Given the description of an element on the screen output the (x, y) to click on. 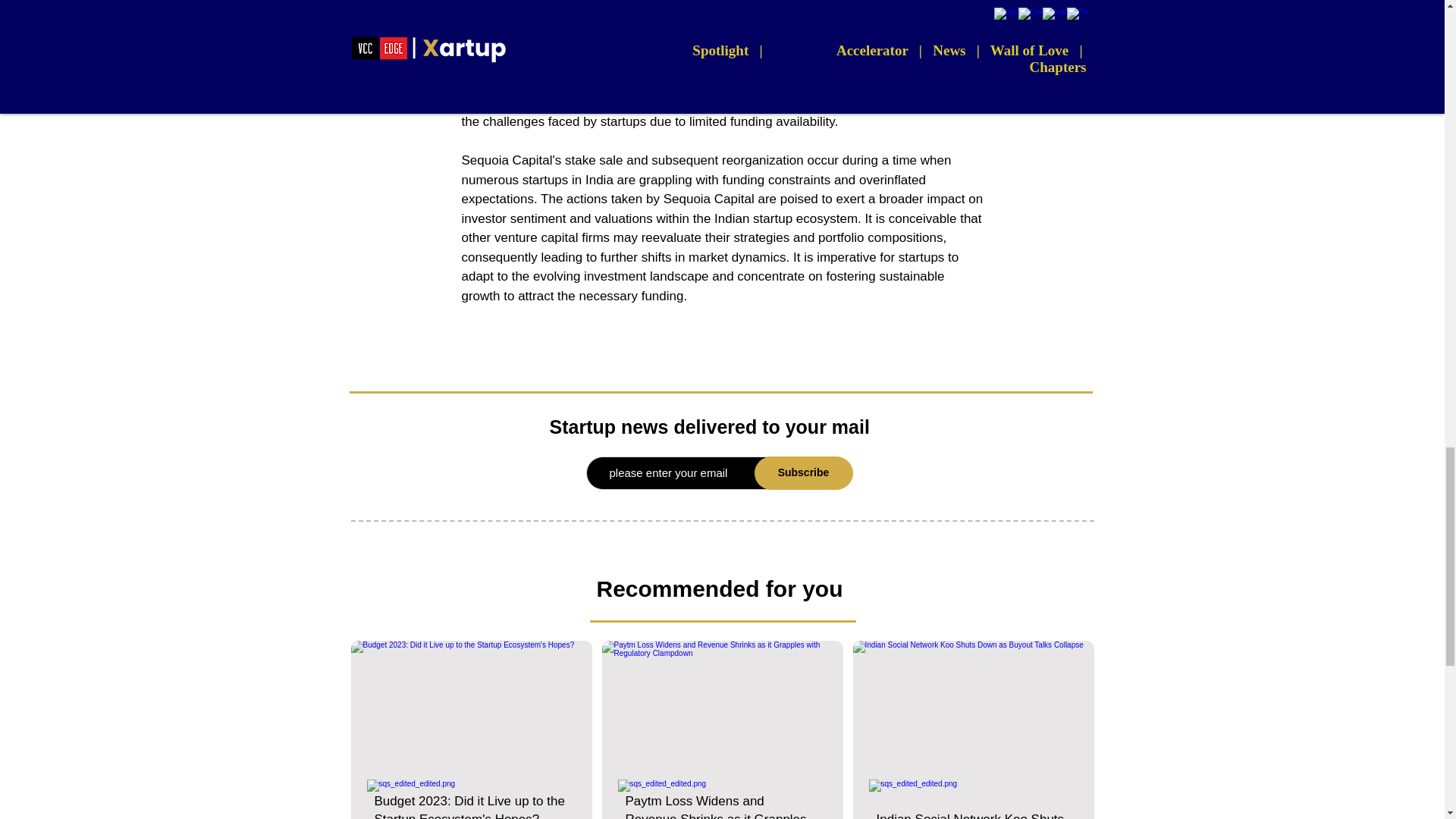
18.png (470, 708)
Subscribe (802, 472)
koo.PNG (972, 708)
